Given the description of an element on the screen output the (x, y) to click on. 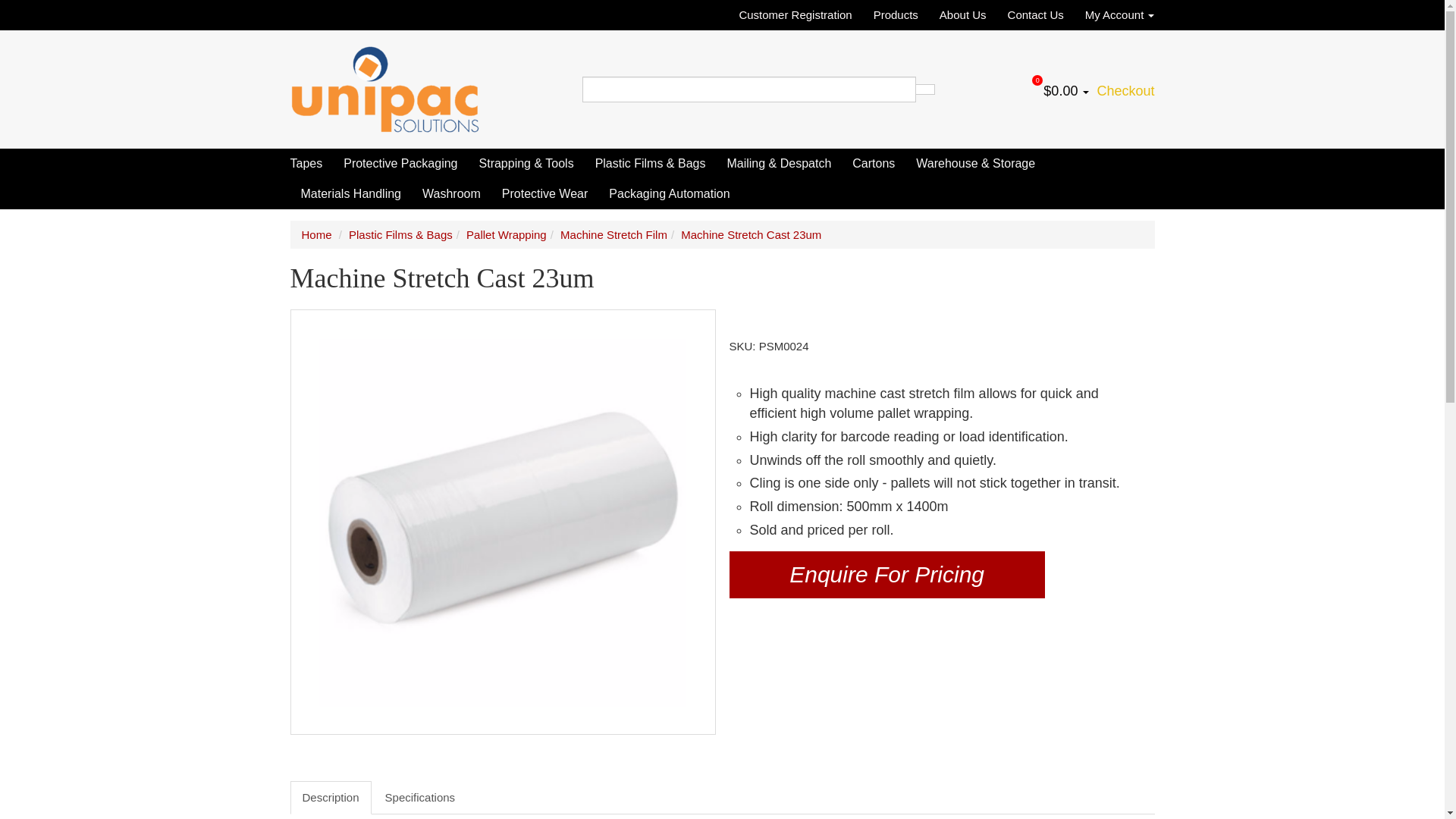
Contact Us (1035, 15)
About Us (962, 15)
Checkout (1123, 90)
Unipac Solutions Pty Ltd (384, 88)
My Account (1114, 15)
Search (924, 89)
Enquire For Pricing (887, 574)
Products (895, 15)
Customer Registration (799, 15)
Tapes (311, 163)
